Given the description of an element on the screen output the (x, y) to click on. 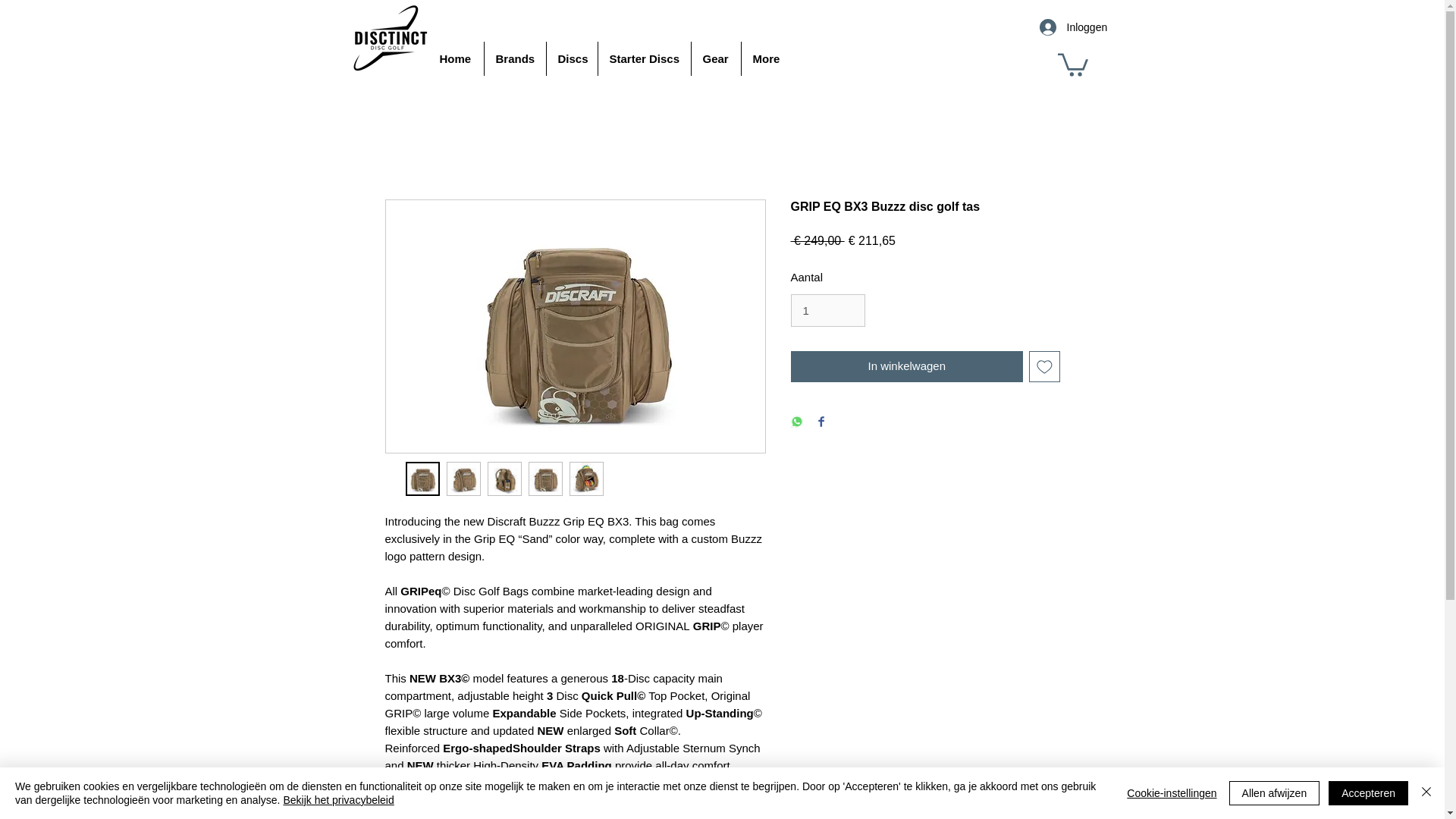
Gear (716, 58)
1 (827, 310)
Starter Discs (643, 58)
Brands (513, 58)
More (766, 58)
Ga teug naar de hoopagina (389, 38)
Inloggen (1057, 27)
Discs (571, 58)
Home (455, 58)
